Given the description of an element on the screen output the (x, y) to click on. 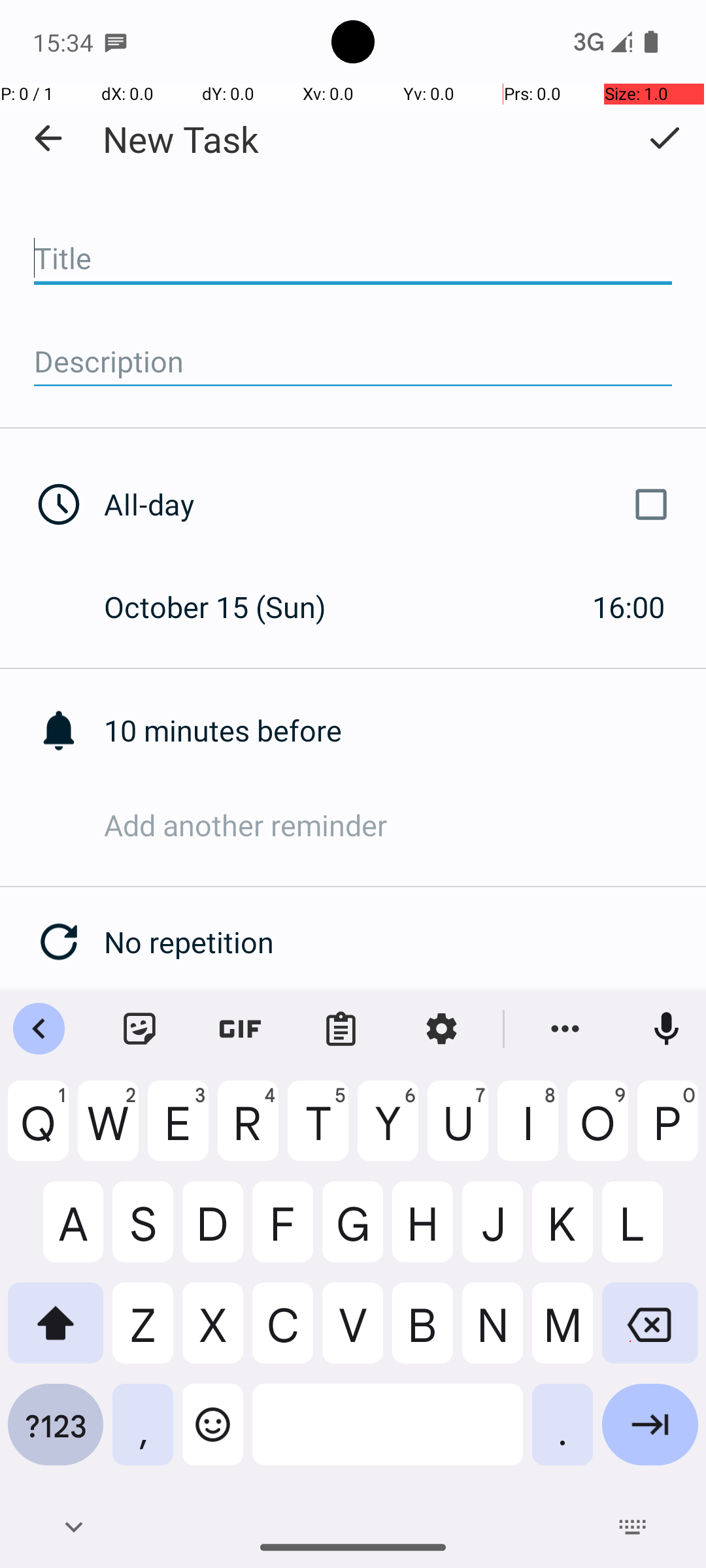
New Task Element type: android.widget.TextView (180, 138)
16:00 Element type: android.widget.TextView (628, 606)
10 minutes before Element type: android.widget.TextView (404, 729)
Add another reminder Element type: android.widget.TextView (404, 824)
No repetition Element type: android.widget.TextView (404, 941)
